Given the description of an element on the screen output the (x, y) to click on. 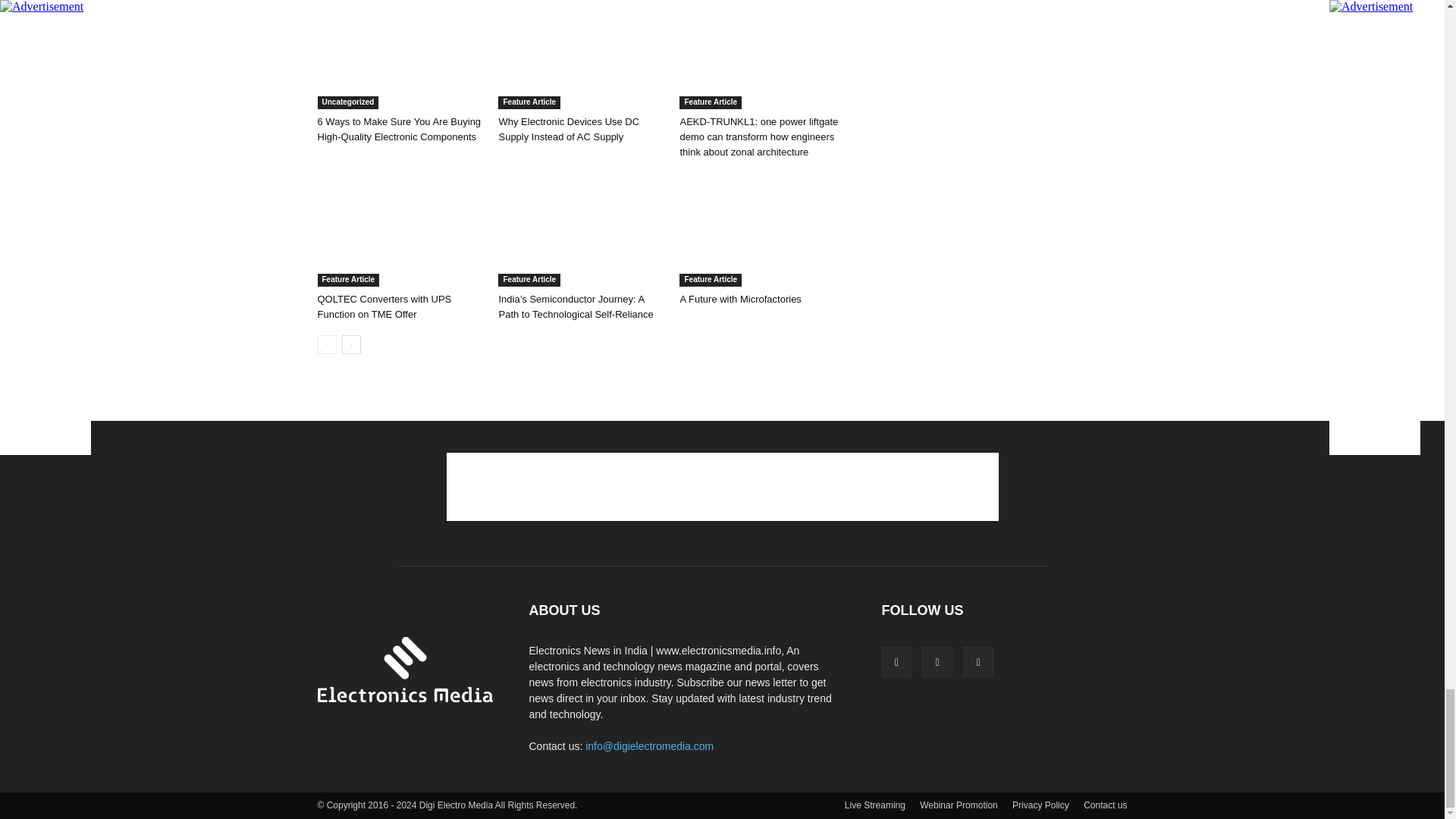
Why Electronic Devices Use DC Supply Instead of AC Supply (568, 129)
Why Electronic Devices Use DC Supply Instead of AC Supply (580, 54)
